Given the description of an element on the screen output the (x, y) to click on. 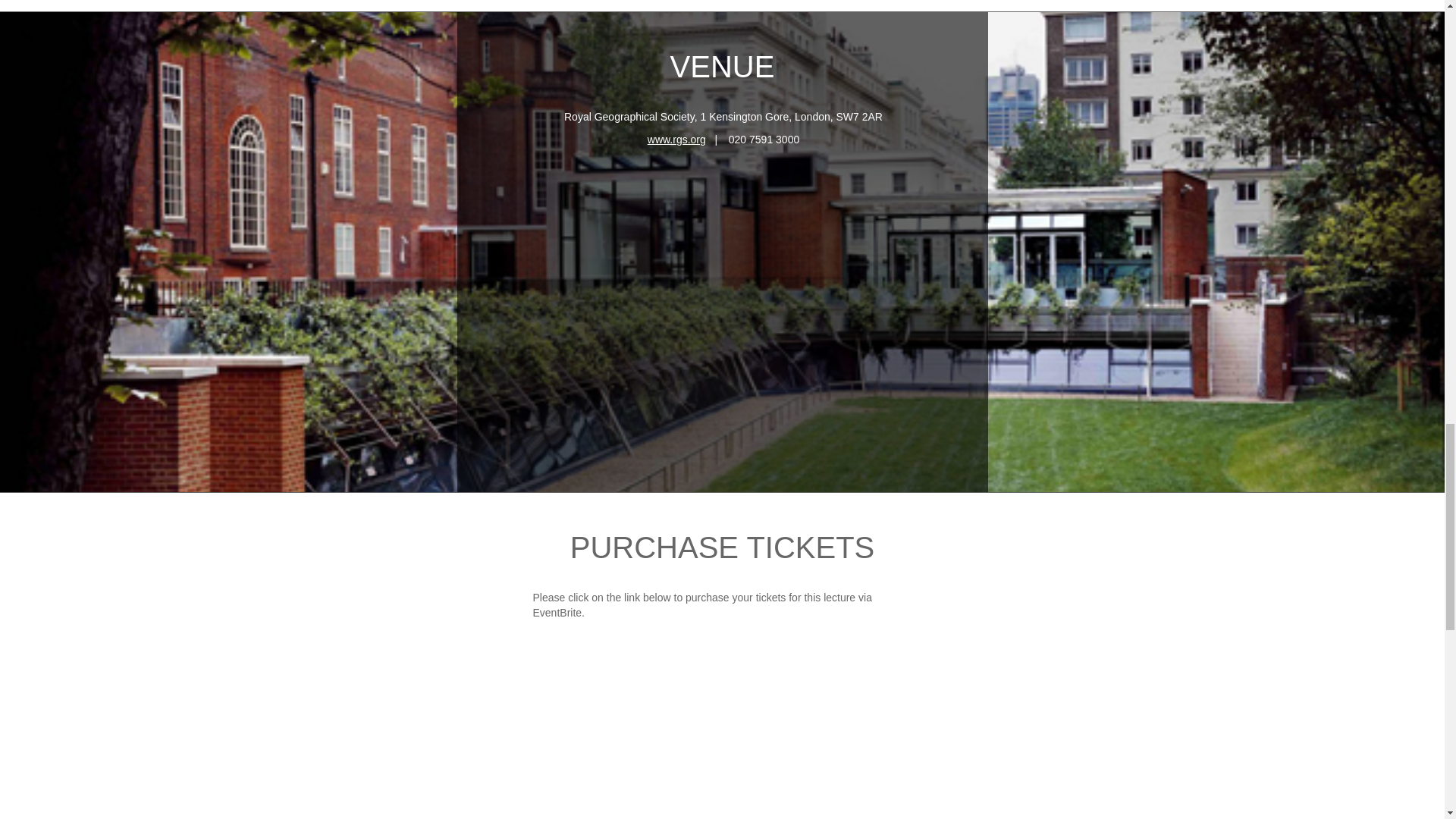
www.rgs.org (676, 139)
